Given the description of an element on the screen output the (x, y) to click on. 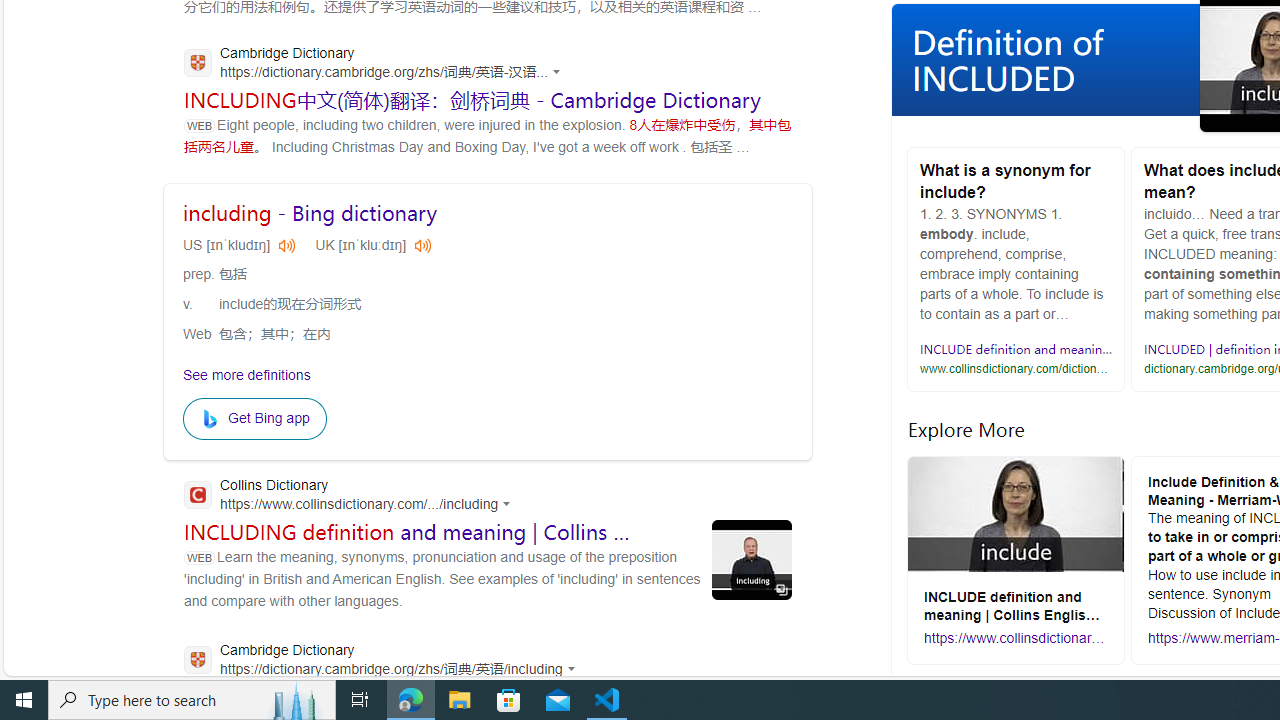
Collins Dictionary (353, 496)
including - Bing dictionary (310, 213)
